Given the description of an element on the screen output the (x, y) to click on. 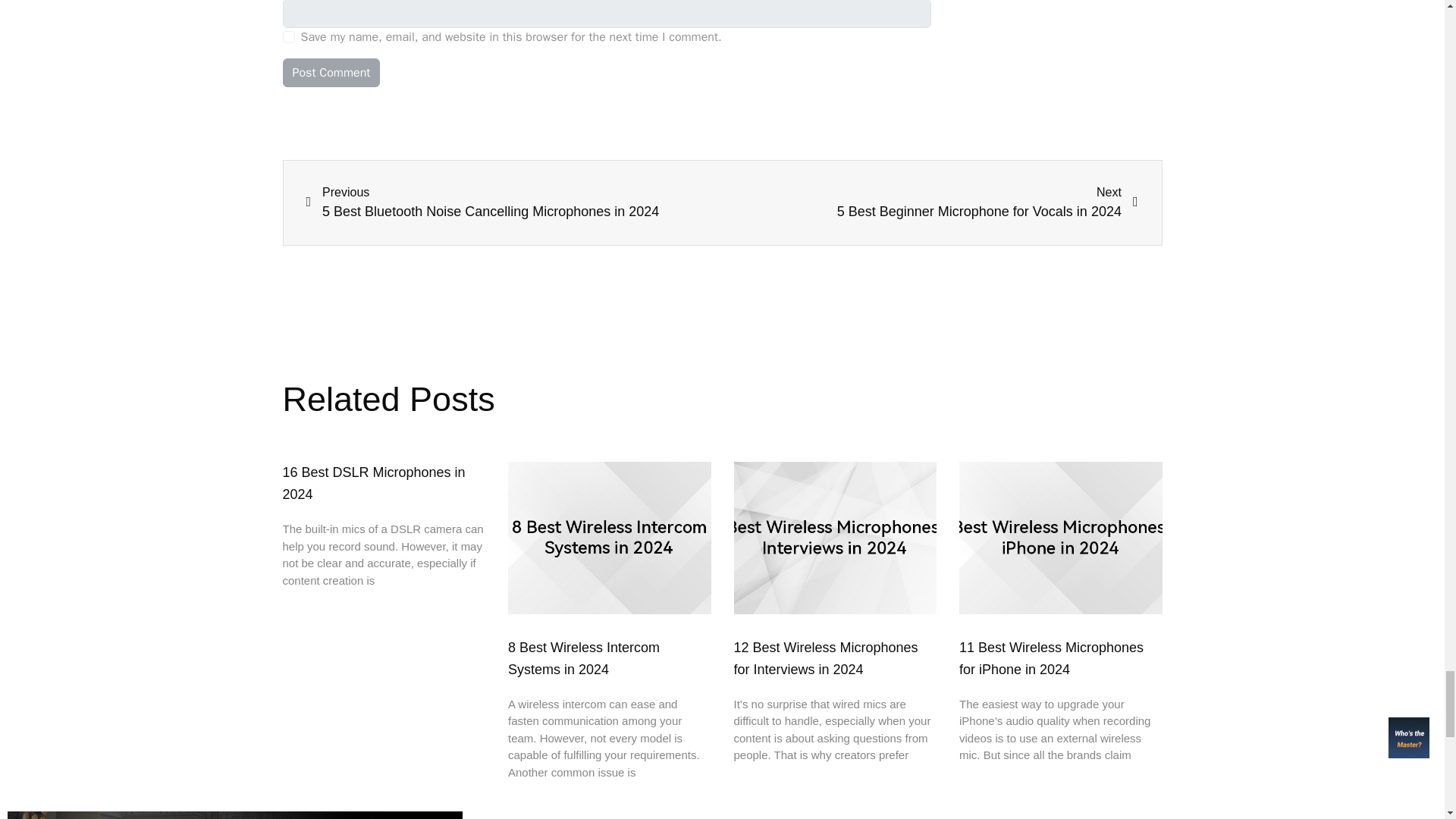
Post Comment (331, 72)
yes (288, 37)
